Given the description of an element on the screen output the (x, y) to click on. 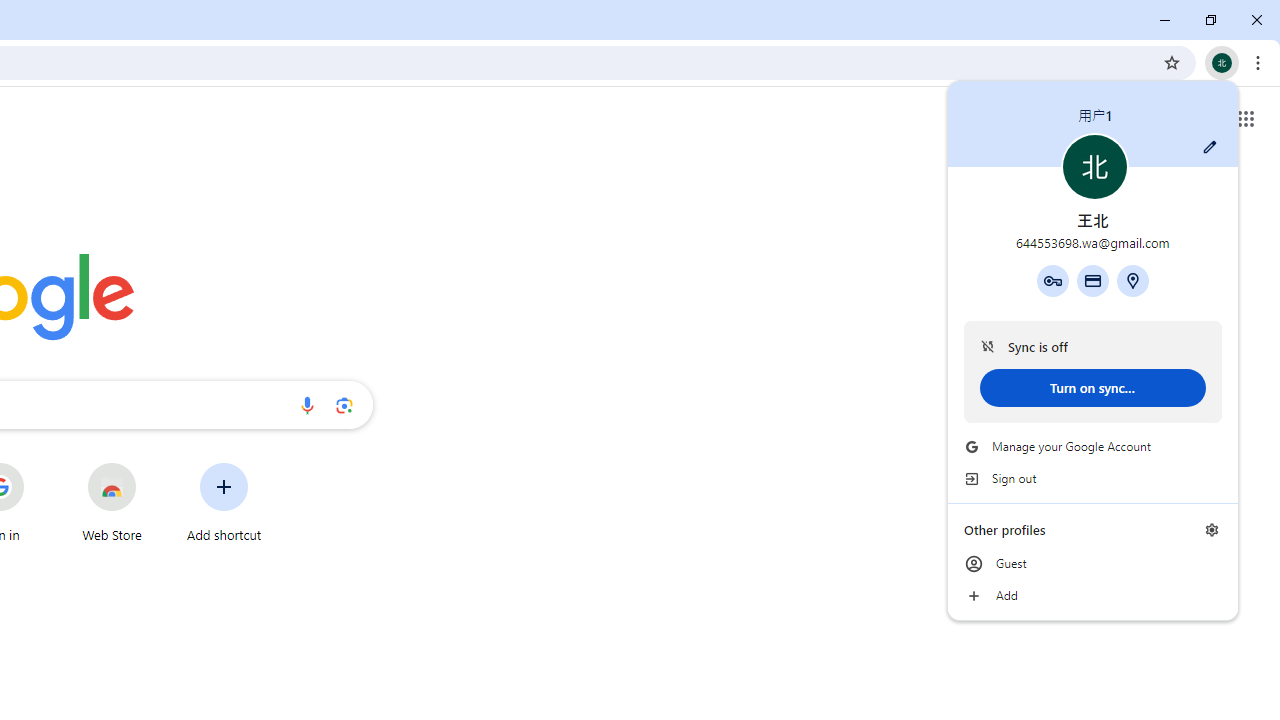
Guest (1092, 563)
Add (1092, 596)
More actions for Sign in shortcut (39, 464)
Google Password Manager (1052, 280)
Addresses and more (1133, 280)
More actions for Web Store shortcut (152, 464)
Customize profile (1210, 147)
